Given the description of an element on the screen output the (x, y) to click on. 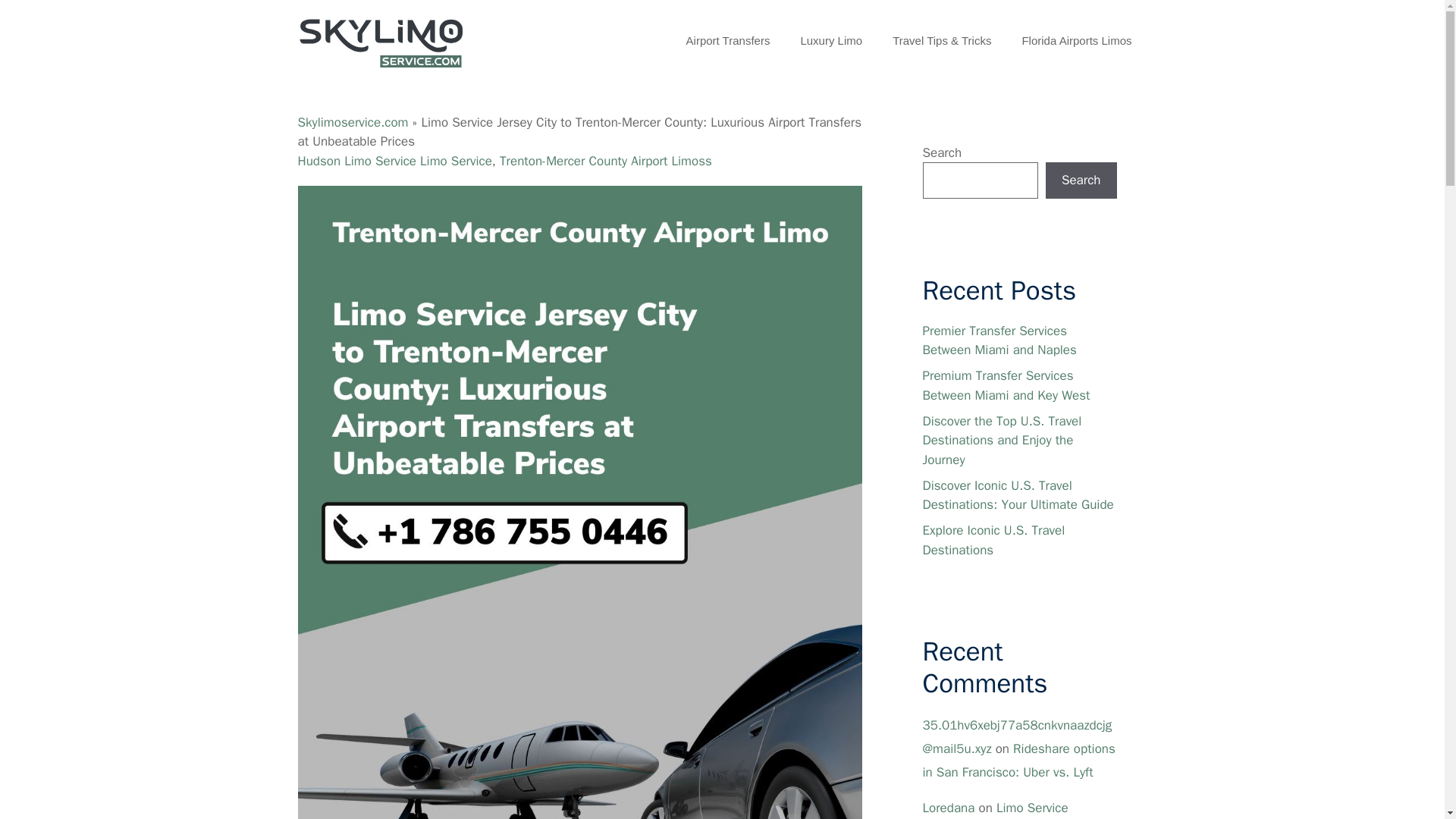
Loredana (947, 807)
Rideshare options in San Francisco: Uber vs. Lyft (1018, 760)
Hudson Limo Service Limo Service (394, 160)
Airport Transfers (728, 40)
Premium Transfer Services Between Miami and Key West (1005, 385)
Trenton-Mercer County Airport Limoss (605, 160)
Search (1080, 180)
Premier Transfer Services Between Miami and Naples (998, 340)
Explore Iconic U.S. Travel Destinations (992, 539)
Luxury Limo (830, 40)
Skylimoservice.com (352, 122)
Florida Airports Limos (1076, 40)
